Given the description of an element on the screen output the (x, y) to click on. 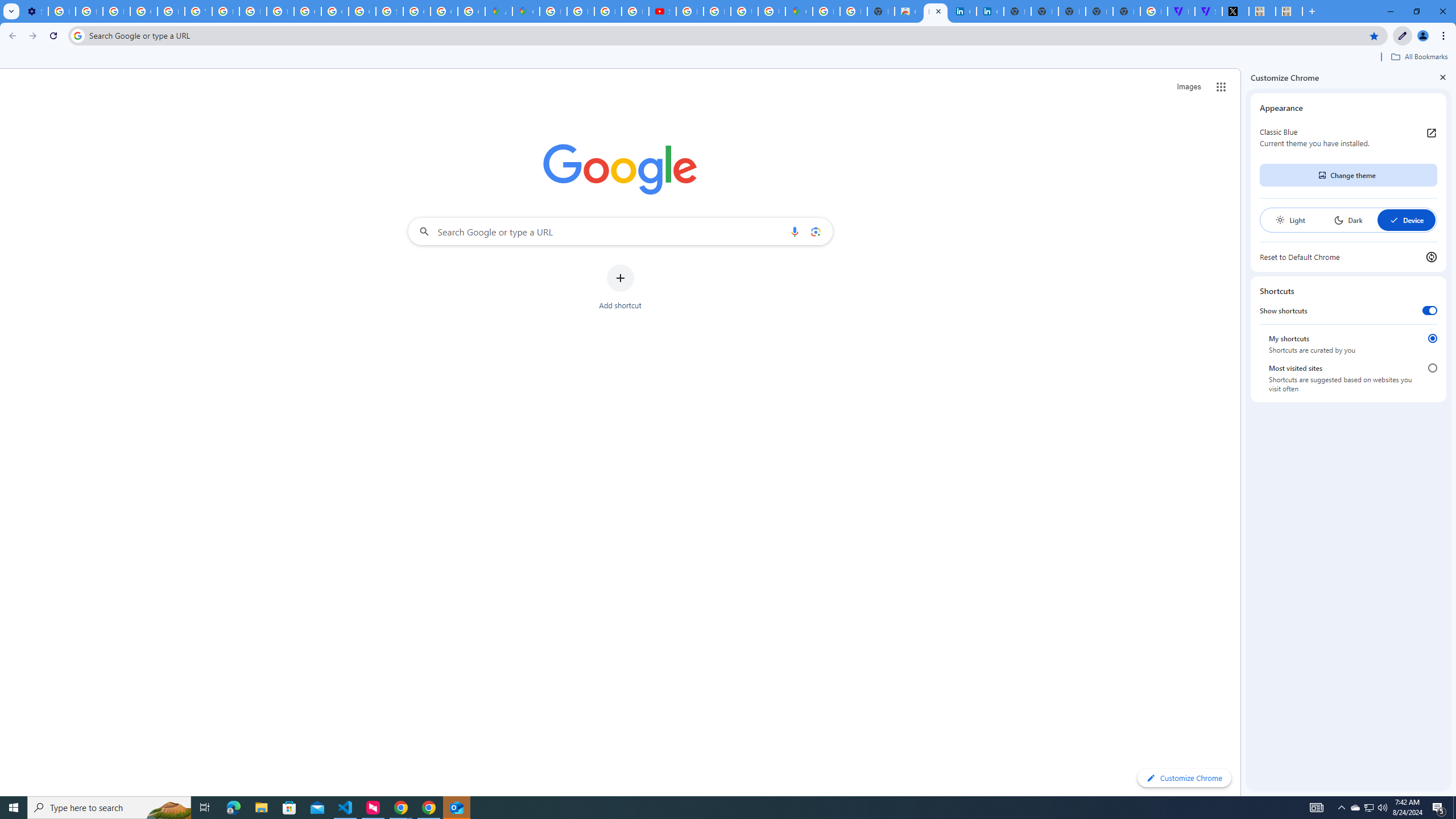
Device (1406, 219)
Change theme (1348, 174)
My shortcuts (1432, 338)
Sign in - Google Accounts (389, 11)
Delete photos & videos - Computer - Google Photos Help (61, 11)
Streaming - The Verge (1208, 11)
Settings - Customize profile (34, 11)
